Given the description of an element on the screen output the (x, y) to click on. 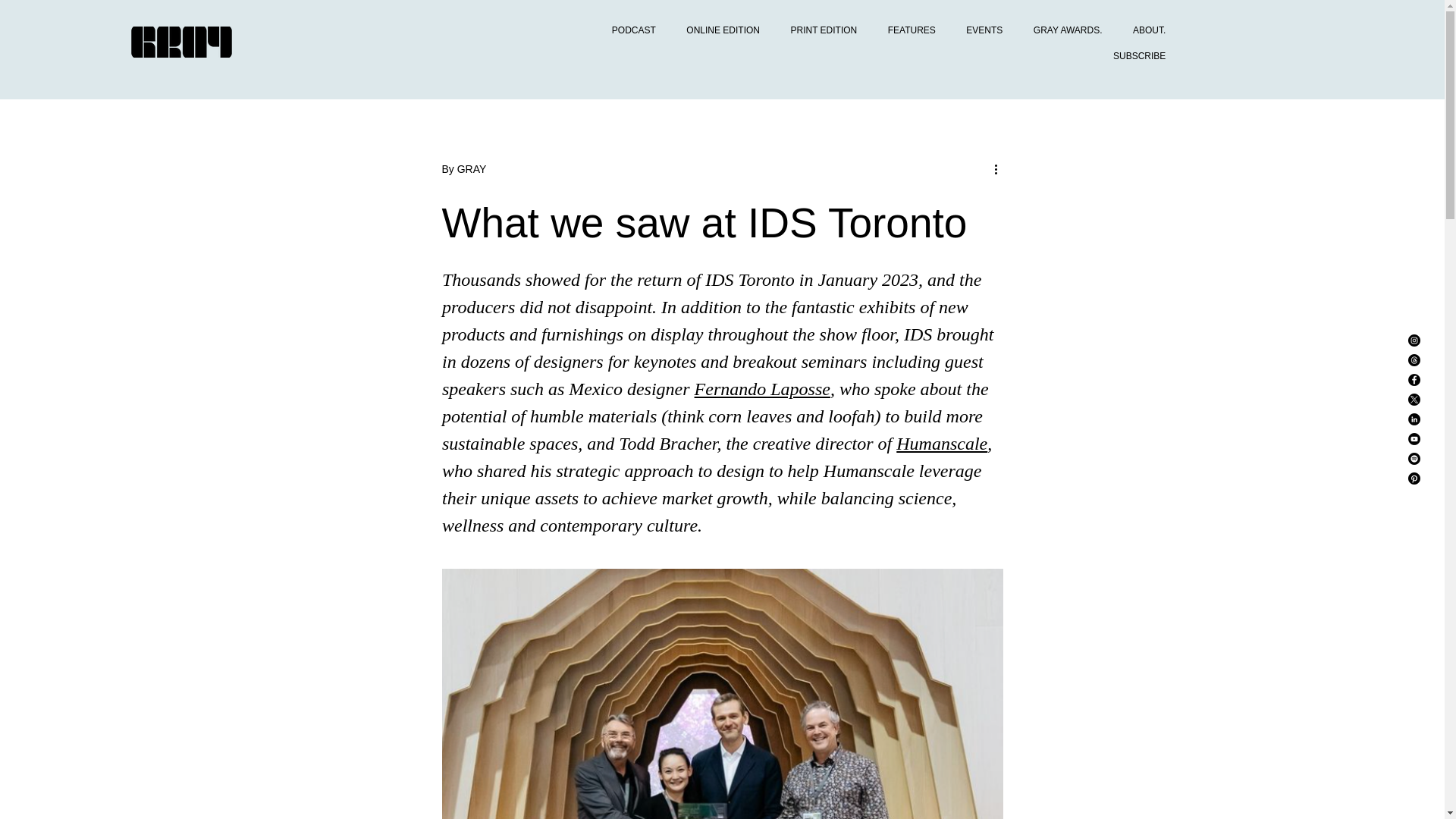
GRAY AWARDS. (1062, 30)
Humanscale (941, 443)
Fernando Laposse (761, 388)
PODCAST (628, 30)
By GRAY (463, 168)
By GRAY (463, 168)
